Given the description of an element on the screen output the (x, y) to click on. 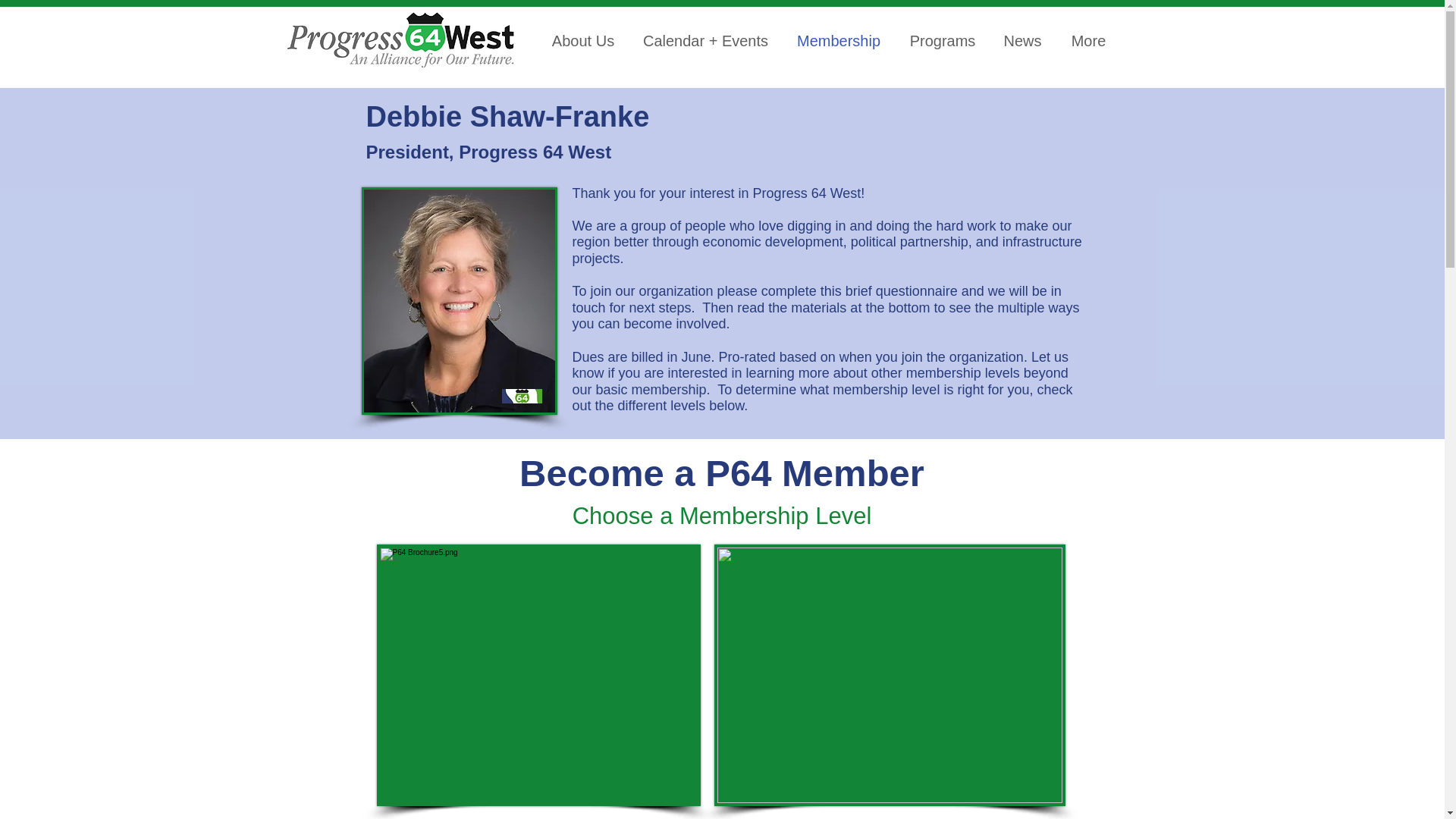
progress-64-west-logo.png (408, 40)
P64 Deck.png (889, 674)
News (1021, 40)
About Us (583, 40)
Programs (943, 40)
Membership (837, 40)
